Given the description of an element on the screen output the (x, y) to click on. 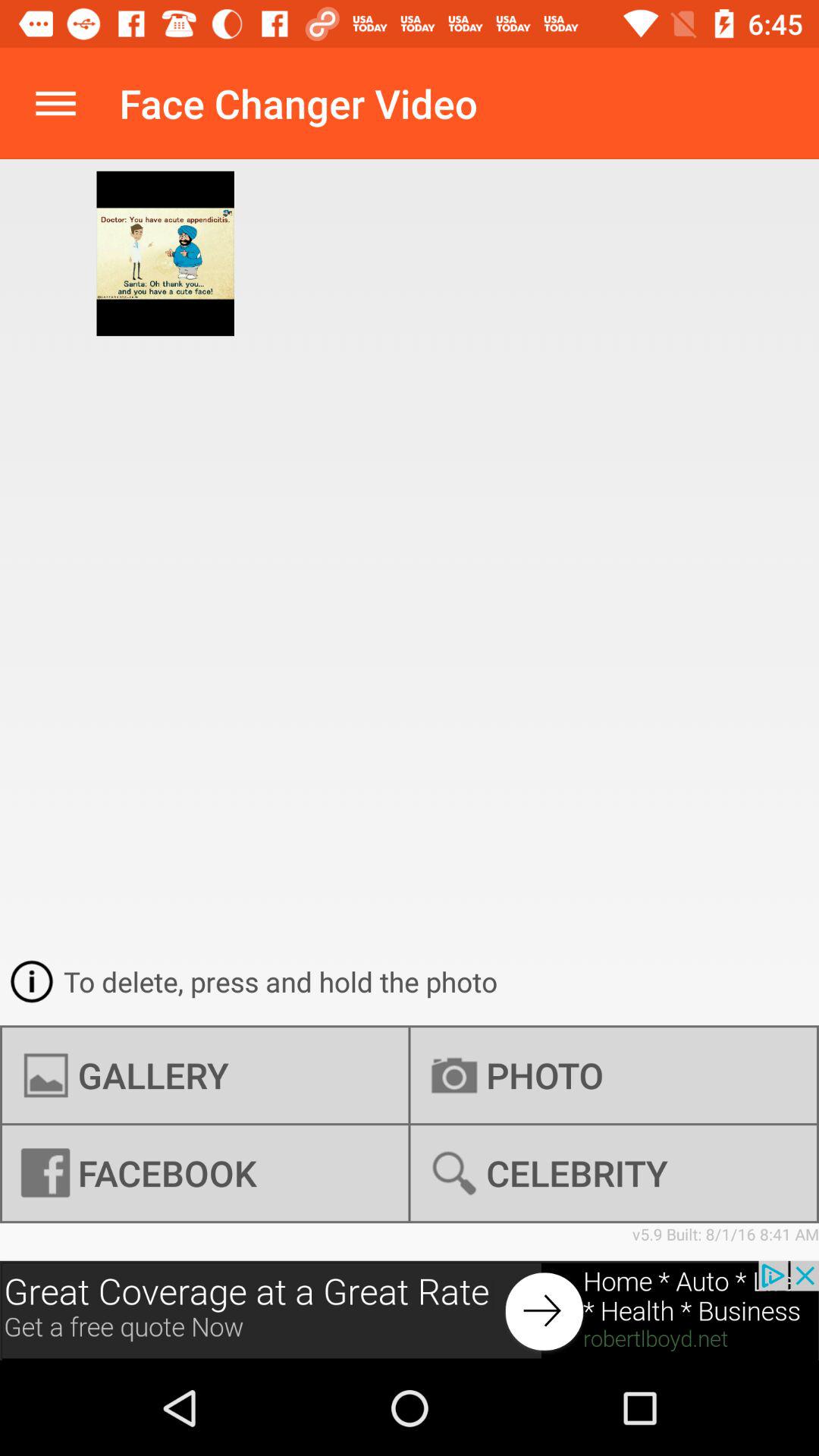
choose the icon below v5 9 built (409, 1310)
